Given the description of an element on the screen output the (x, y) to click on. 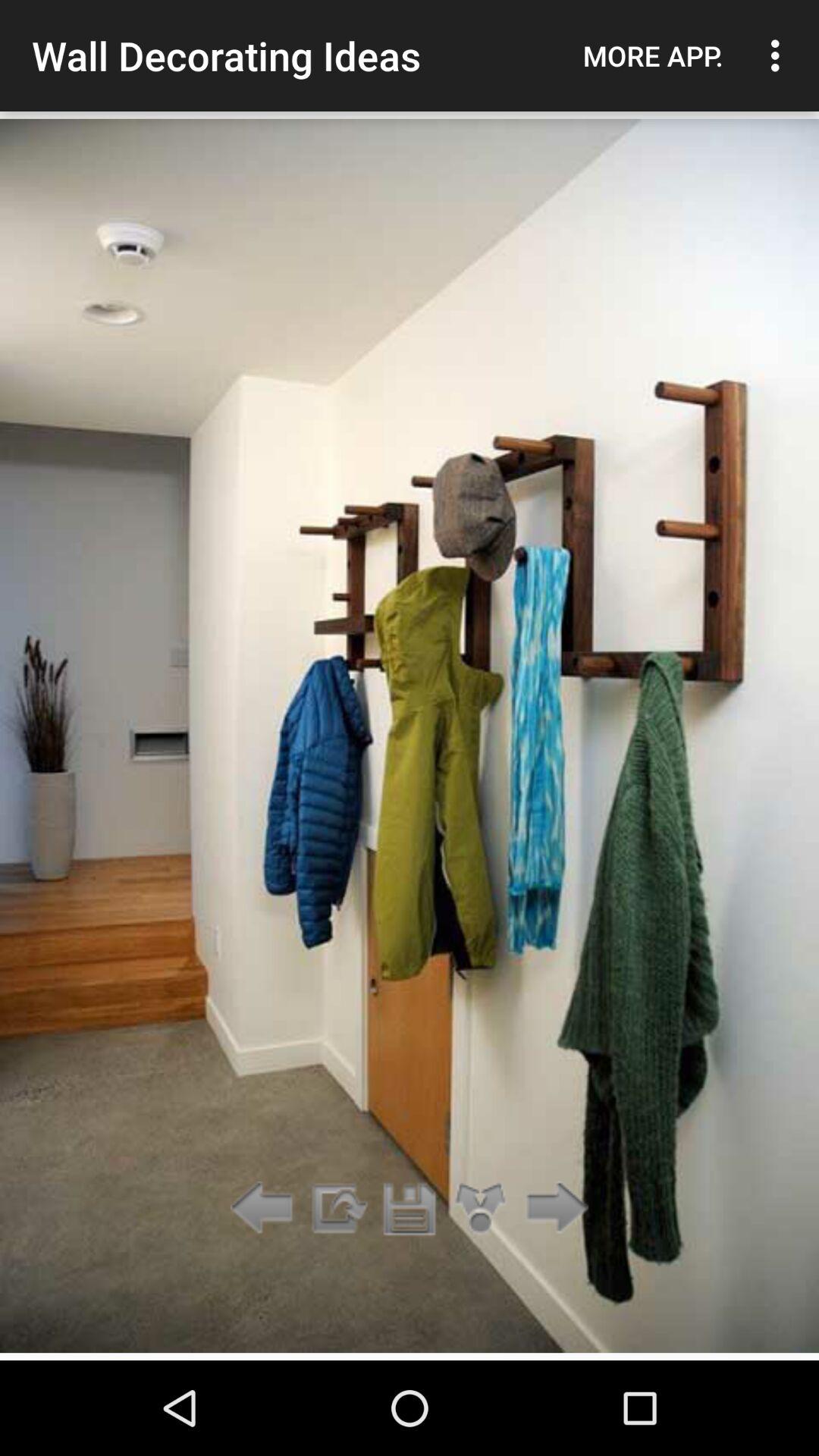
scroll until more app. item (653, 55)
